Given the description of an element on the screen output the (x, y) to click on. 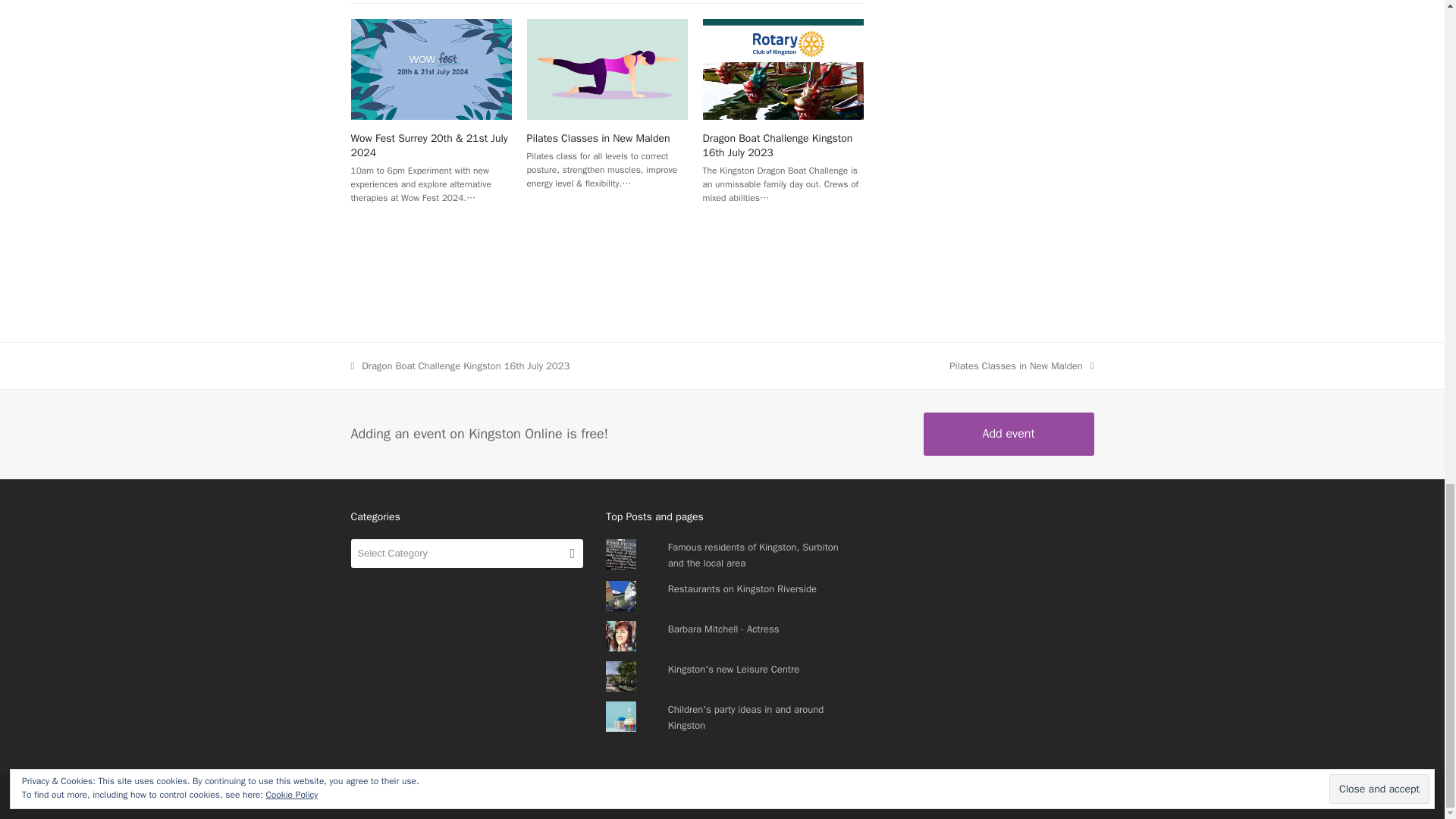
Dragon  Boat Challenge Kingston 16th July 2023 (783, 68)
Dragon Boat Challenge Kingston 16th July 2023 (778, 144)
Pilates Classes in New Malden (607, 68)
Pilates Classes in New Malden (598, 137)
Famous residents of Kingston, Surbiton and the local area (753, 554)
